Given the description of an element on the screen output the (x, y) to click on. 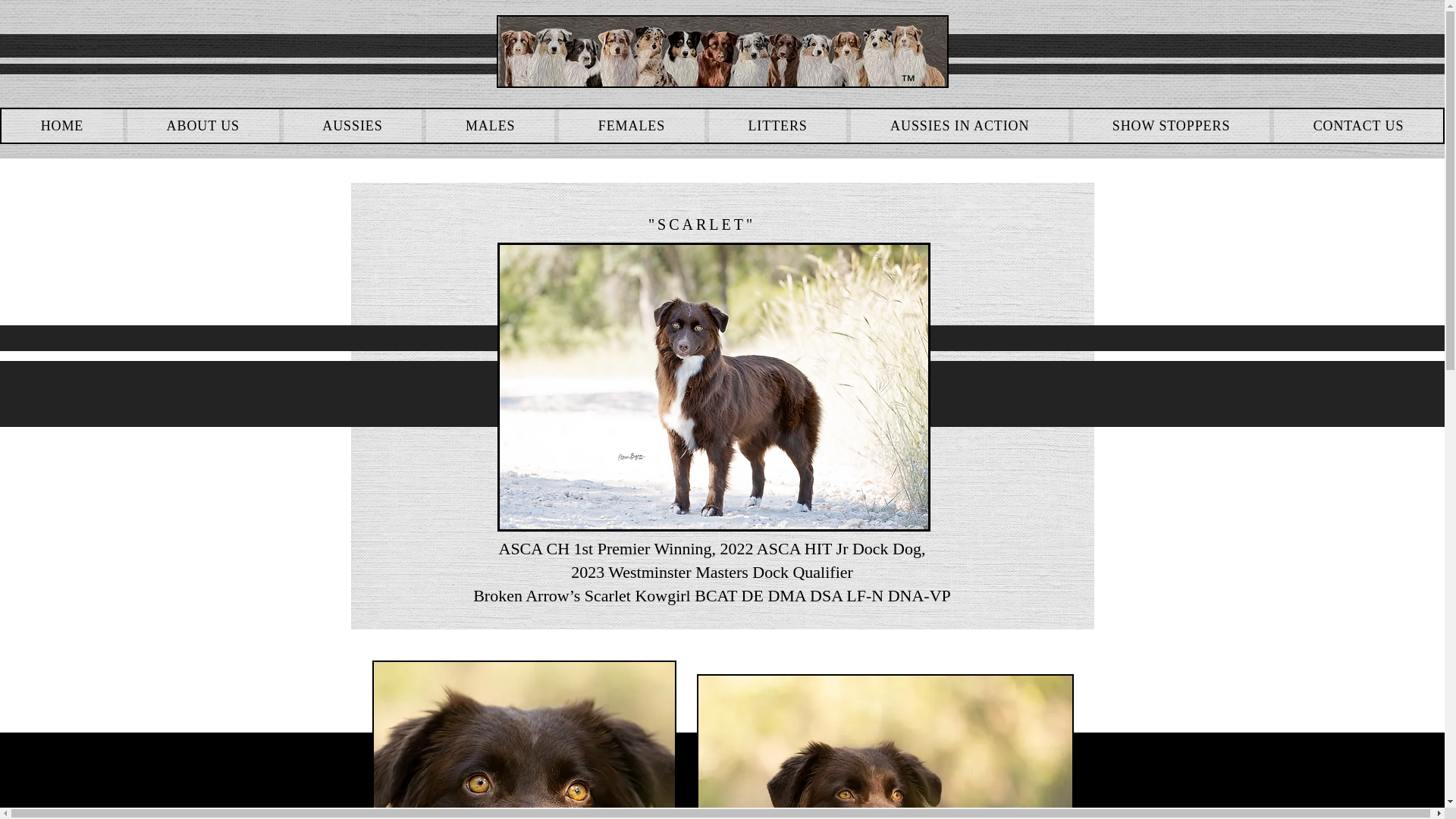
LITTERS (778, 125)
ABOUT US (203, 125)
AUSSIES (352, 125)
AUSSIES IN ACTION (959, 125)
CONTACT US (1358, 125)
MALES (490, 125)
SHOW STOPPERS (1171, 125)
FEMALES (631, 125)
HOME (61, 125)
